Given the description of an element on the screen output the (x, y) to click on. 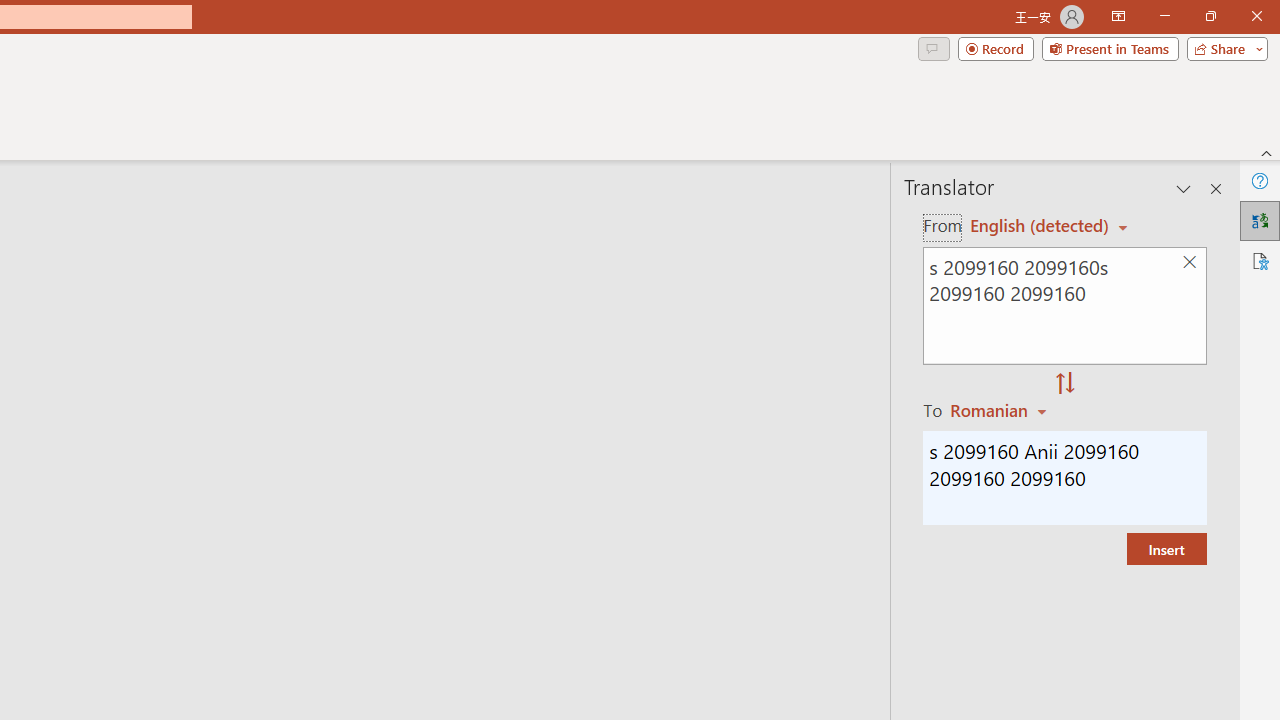
Czech (detected) (1039, 225)
